Given the description of an element on the screen output the (x, y) to click on. 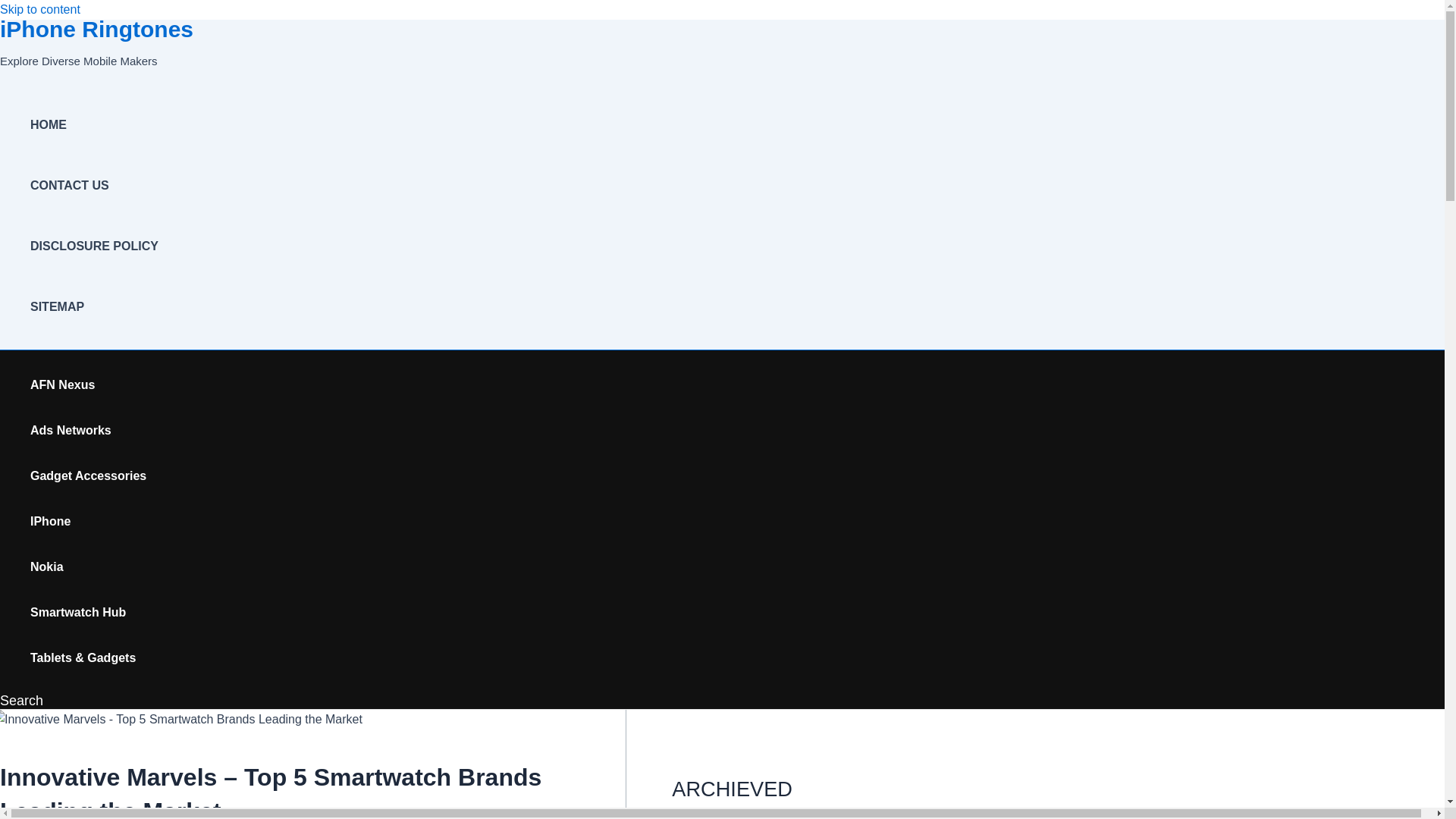
SITEMAP (94, 306)
HOME (94, 125)
CONTACT US (94, 185)
Skip to content (40, 9)
Gadget Accessories (88, 475)
Search (21, 700)
Smartwatch Hub (88, 612)
Nokia (88, 566)
Ads Networks (88, 430)
Skip to content (40, 9)
